Given the description of an element on the screen output the (x, y) to click on. 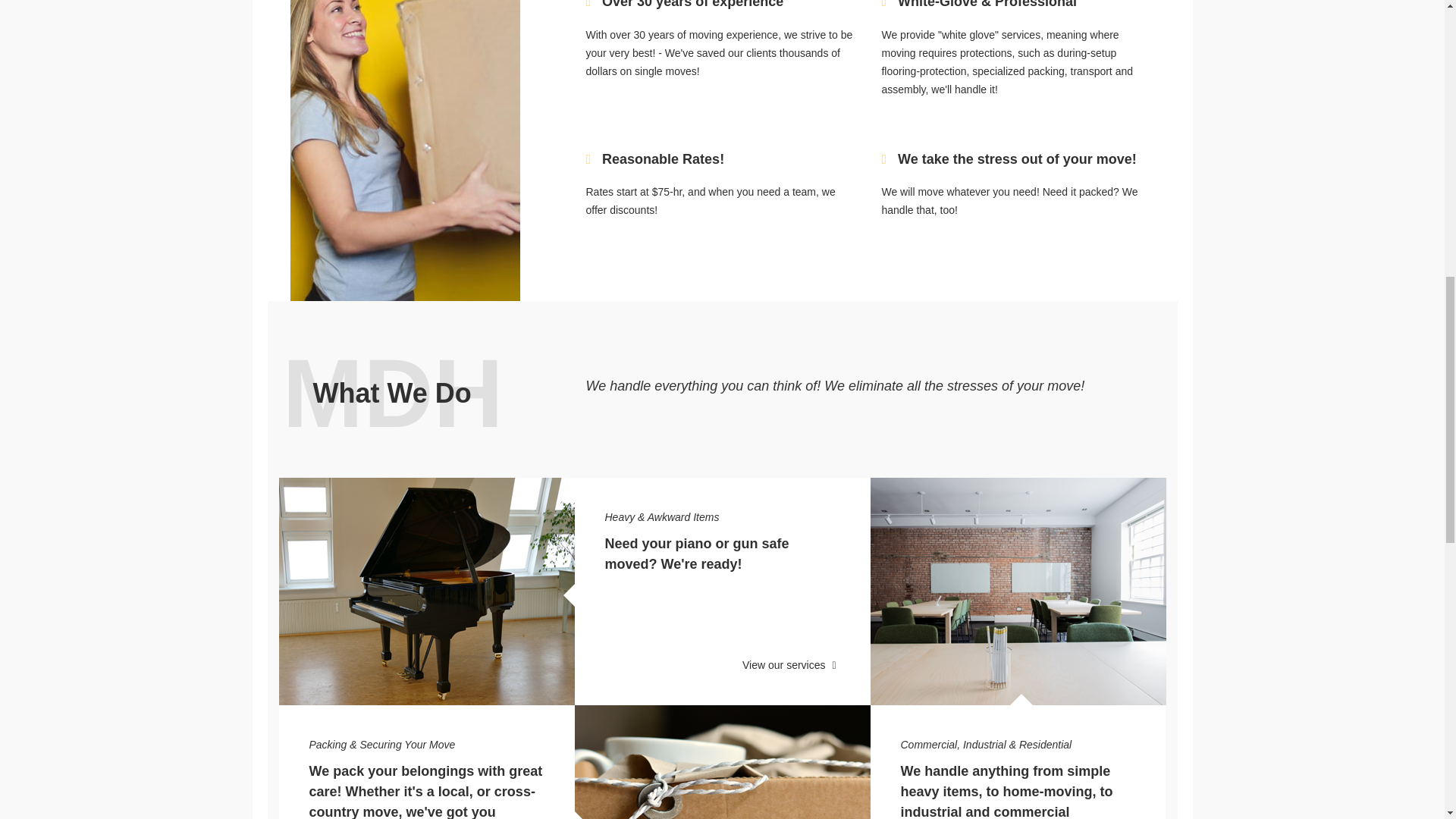
View our services (791, 664)
